Given the description of an element on the screen output the (x, y) to click on. 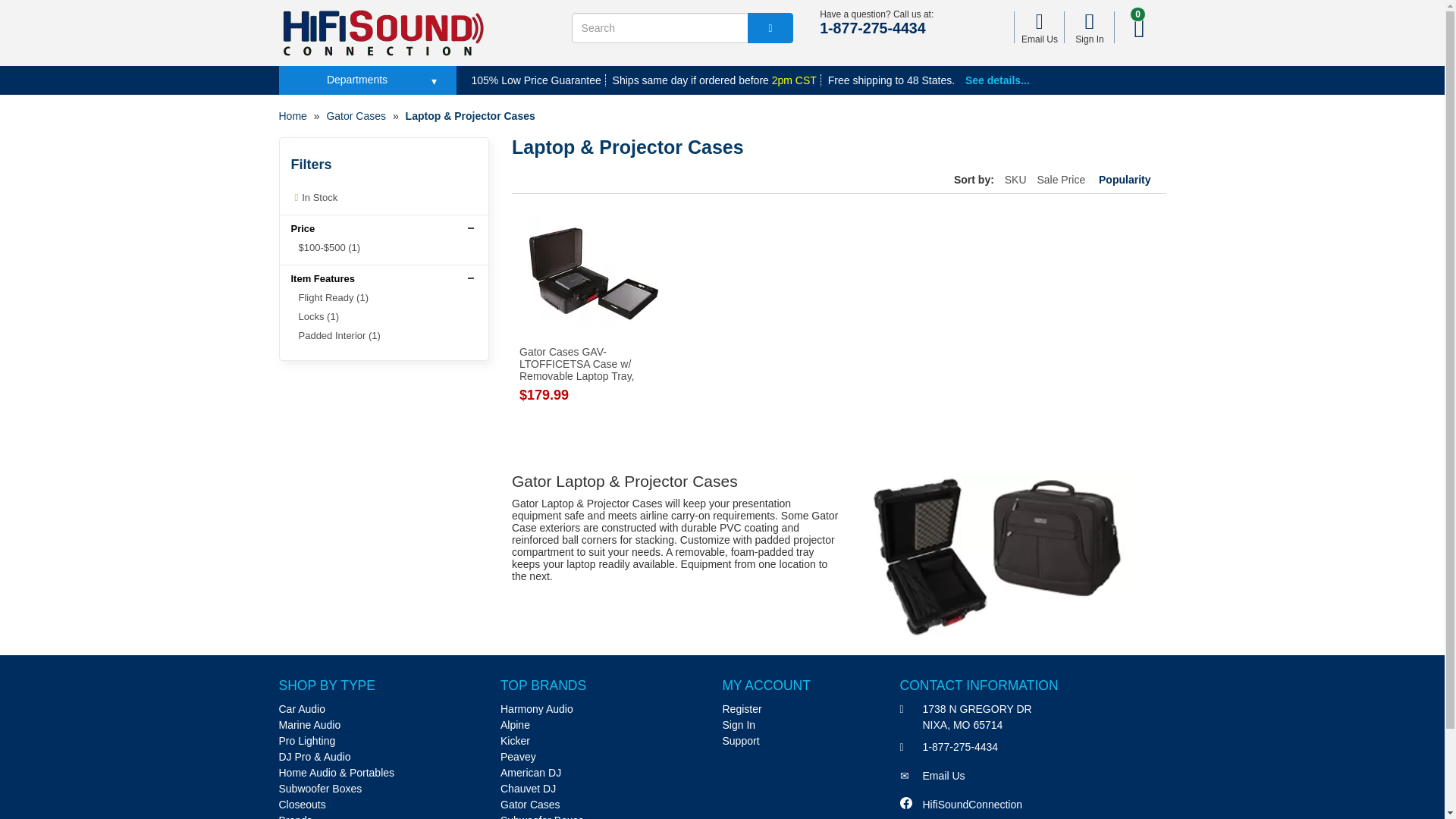
In Stock (314, 197)
Sign In (1088, 27)
Sign In (1088, 27)
Email Us (1038, 27)
Brands (296, 816)
Home (293, 115)
filters (390, 164)
category description (839, 548)
Register (741, 708)
See details... (997, 80)
